Given the description of an element on the screen output the (x, y) to click on. 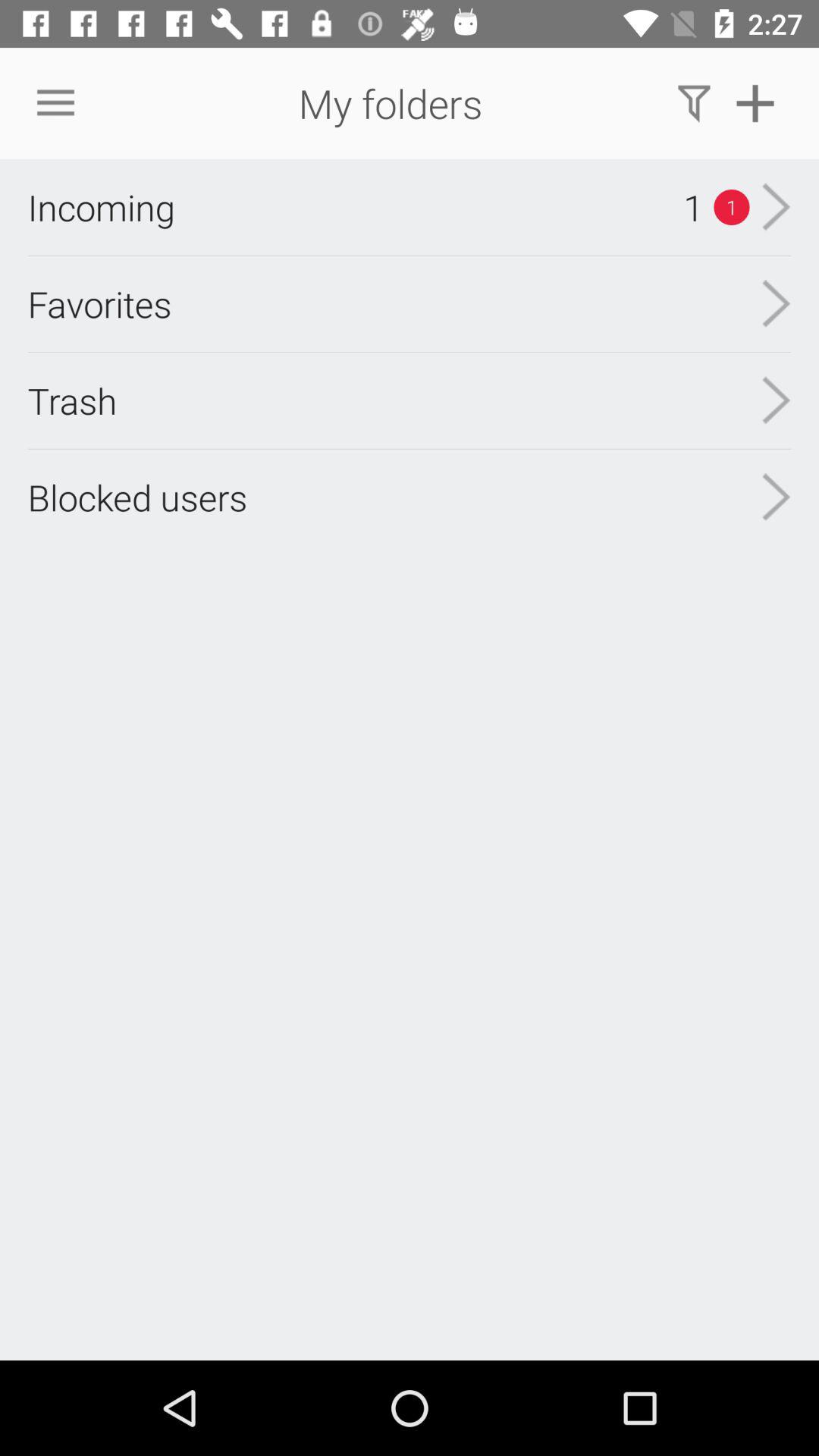
turn off the icon next to the my folders icon (693, 102)
